Given the description of an element on the screen output the (x, y) to click on. 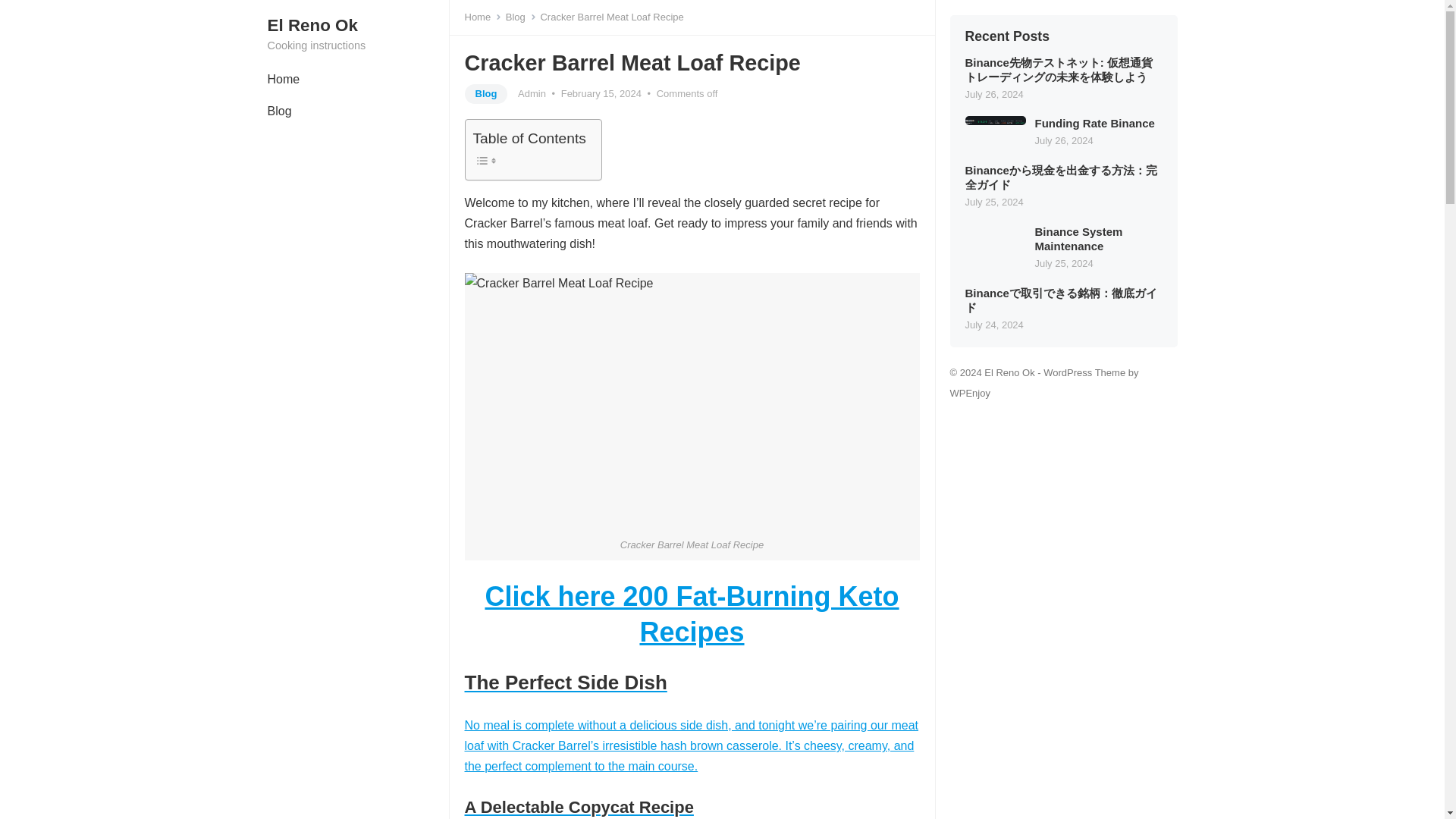
Click here 200 Fat-Burning Keto Recipes (691, 613)
Posts by Admin (532, 93)
Admin (532, 93)
Blog (520, 16)
Blog (278, 111)
Home (482, 16)
Home (282, 79)
El Reno Ok (357, 25)
Blog (485, 94)
